Given the description of an element on the screen output the (x, y) to click on. 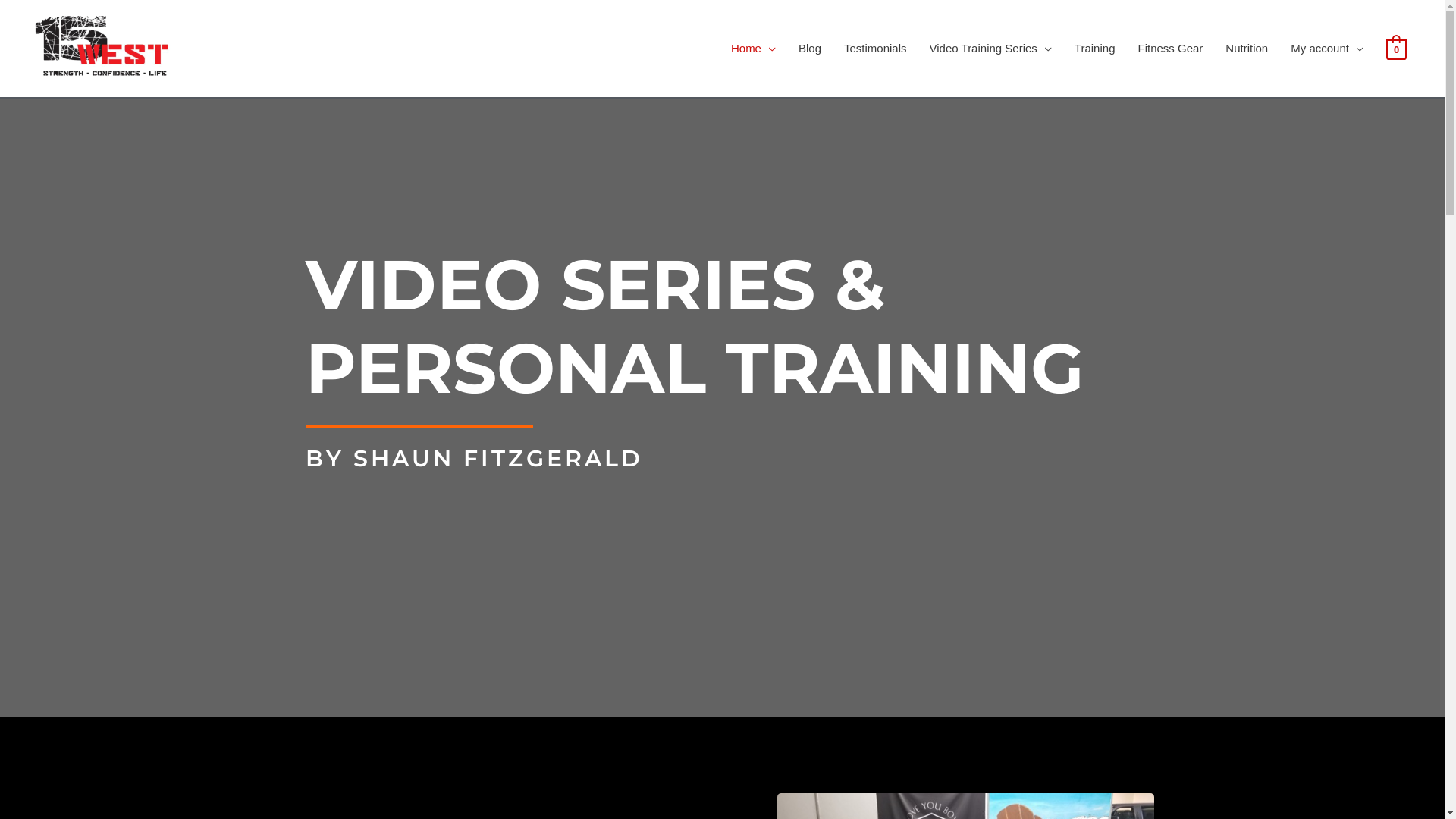
My account Element type: text (1326, 48)
Training Element type: text (1094, 48)
Nutrition Element type: text (1246, 48)
Video Training Series Element type: text (990, 48)
0 Element type: text (1396, 48)
Home Element type: text (753, 48)
Testimonials Element type: text (875, 48)
Fitness Gear Element type: text (1170, 48)
Blog Element type: text (809, 48)
